Given the description of an element on the screen output the (x, y) to click on. 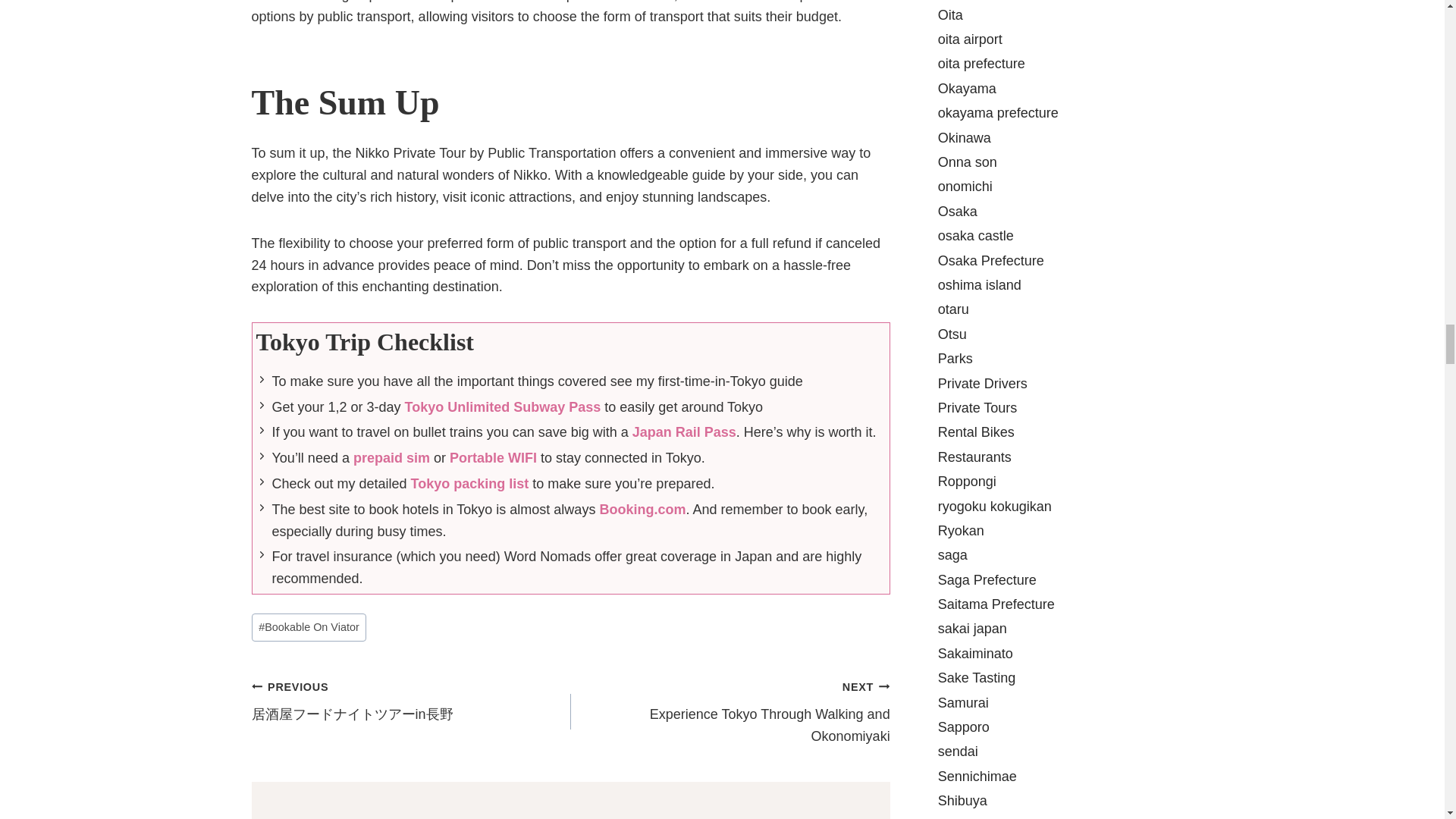
Bookable On Viator (308, 627)
